Given the description of an element on the screen output the (x, y) to click on. 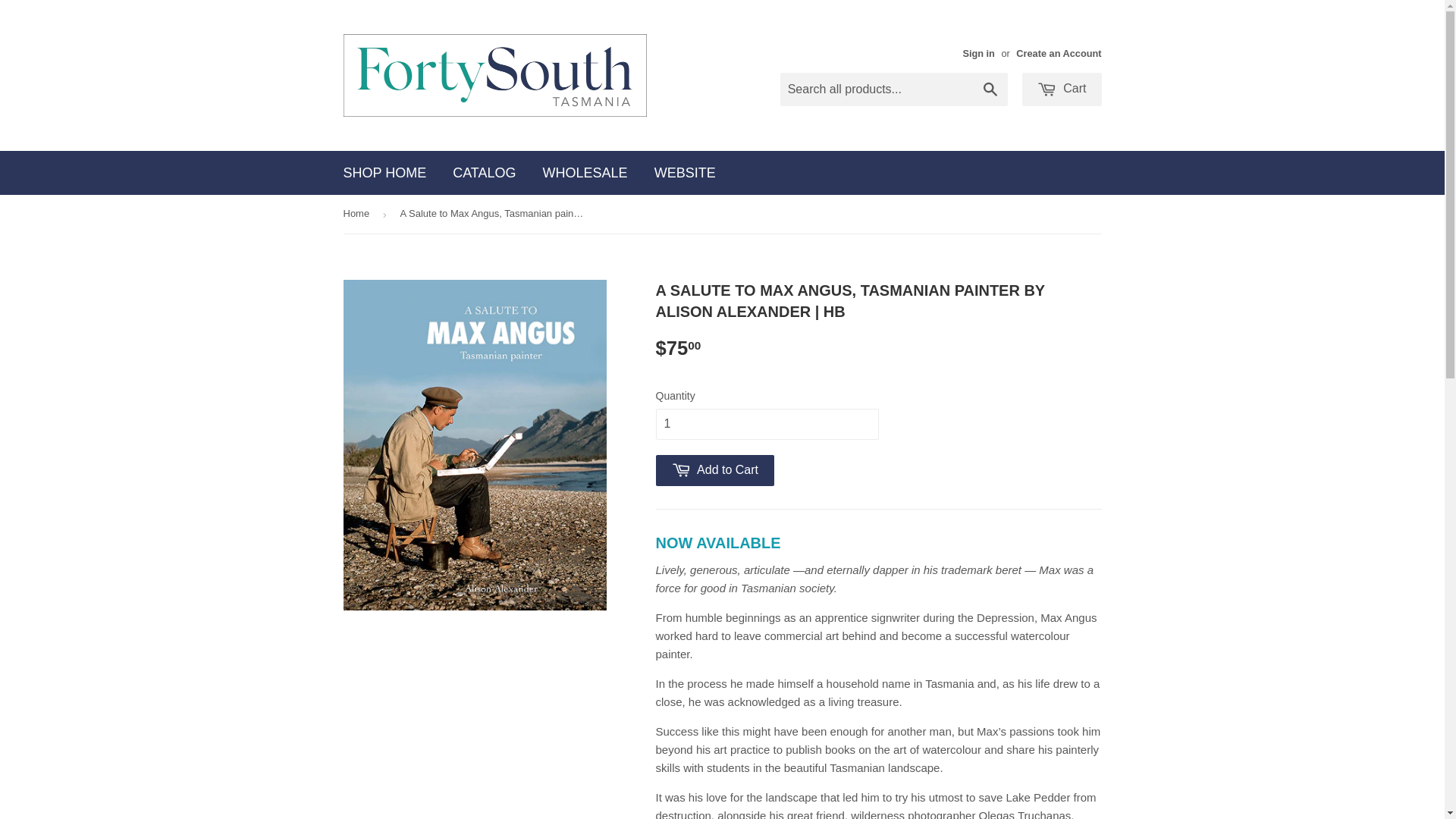
Search Element type: text (990, 90)
CATALOG Element type: text (484, 172)
Add to Cart Element type: text (714, 470)
WHOLESALE Element type: text (585, 172)
WEBSITE Element type: text (685, 172)
Home Element type: text (358, 213)
Create an Account Element type: text (1058, 53)
SHOP HOME Element type: text (385, 172)
Sign in Element type: text (978, 53)
Cart Element type: text (1061, 89)
